Given the description of an element on the screen output the (x, y) to click on. 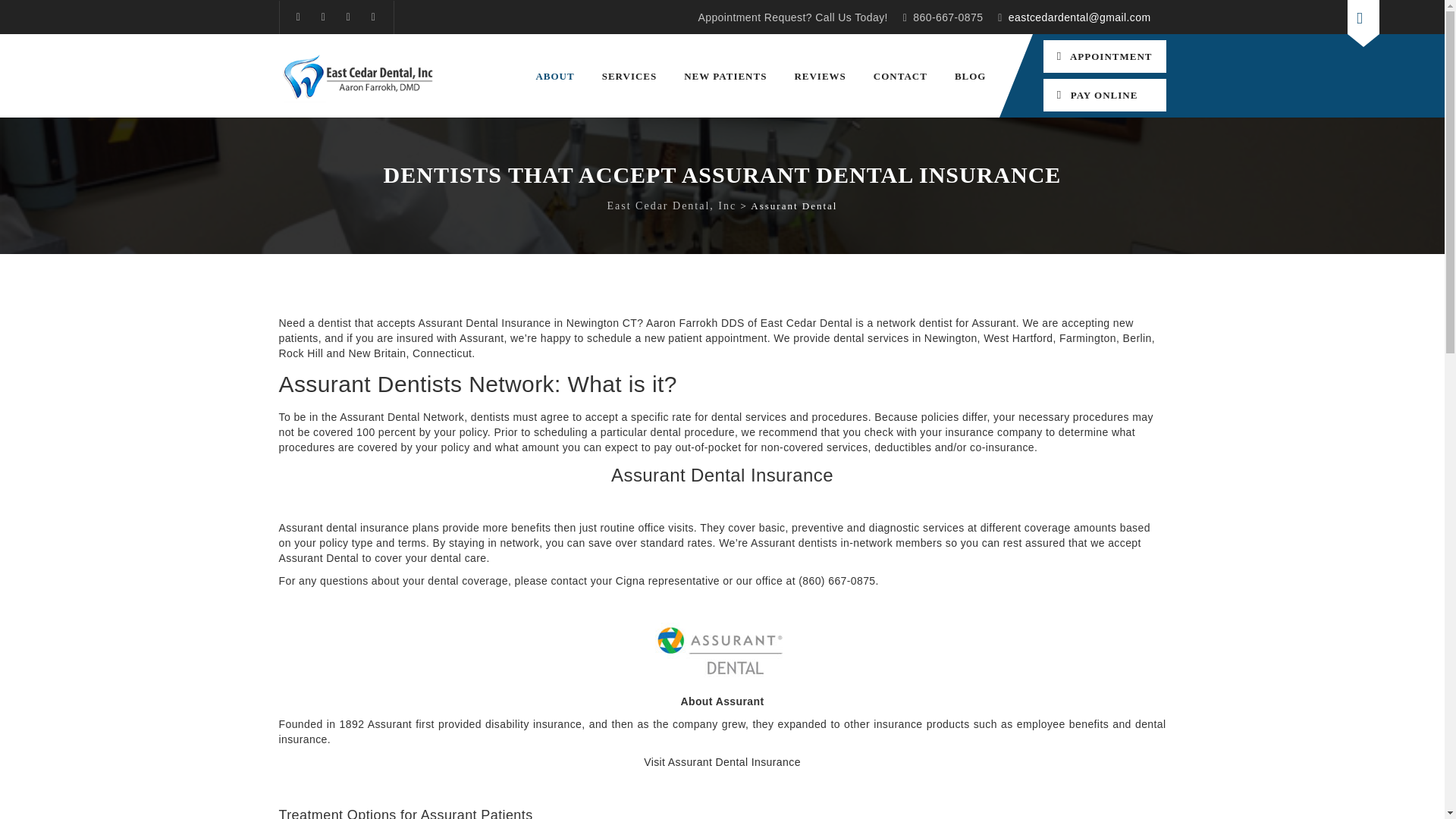
Go to East Cedar Dental, Inc. (671, 205)
East Cedar Dental, Inc (361, 75)
APPOINTMENT (1104, 56)
PAY ONLINE (1104, 94)
